Given the description of an element on the screen output the (x, y) to click on. 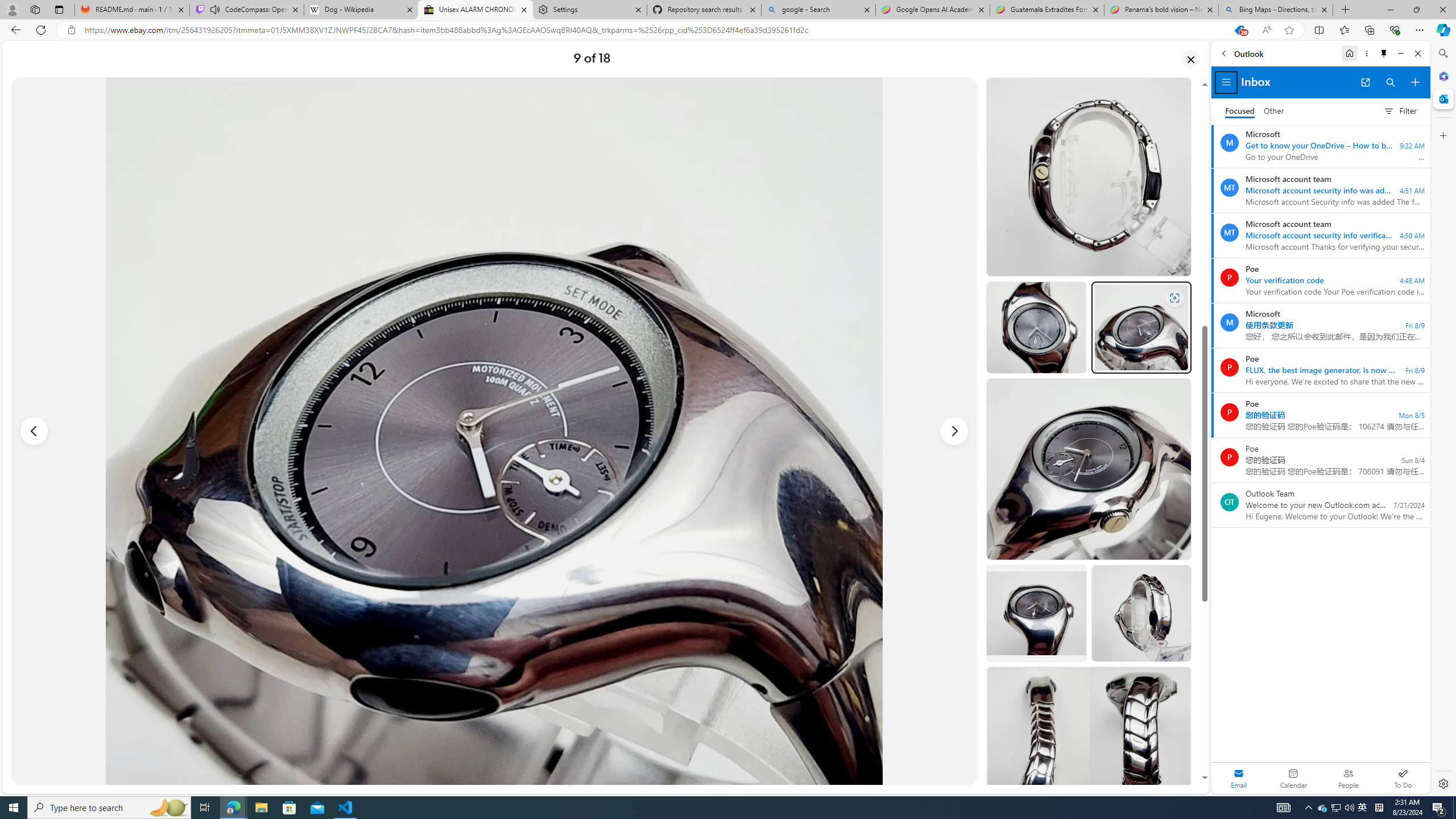
Next image - Item images thumbnails (954, 430)
Dog - Wikipedia (360, 9)
Close image gallery dialog (1190, 58)
Split screen (1318, 29)
Picture 9 of 18 (493, 430)
Folder navigation (1225, 82)
Mute tab (215, 8)
View site information (70, 29)
Browser essentials (1394, 29)
